Given the description of an element on the screen output the (x, y) to click on. 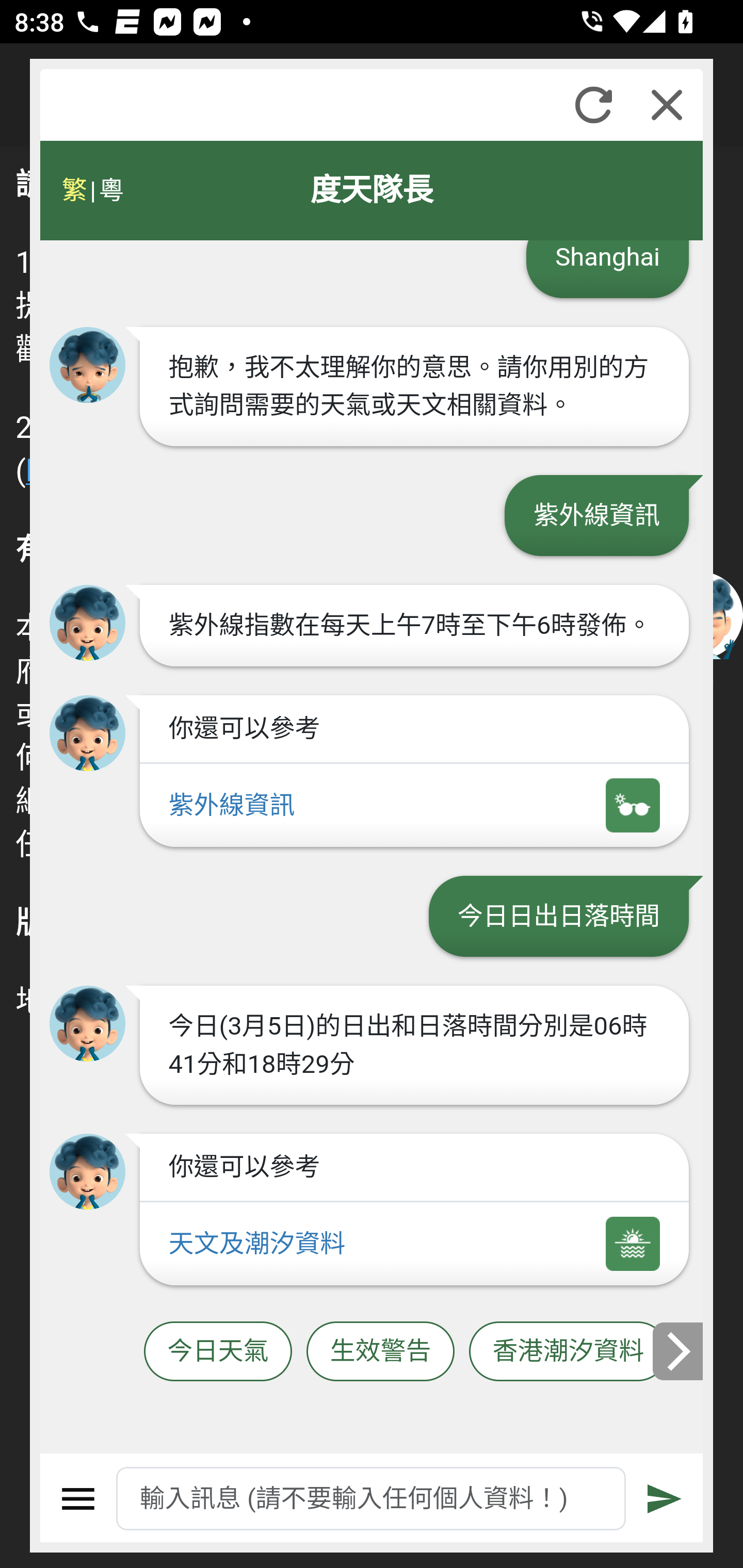
重新整理 (593, 104)
關閉 (666, 104)
繁 (73, 190)
粵 (110, 190)
紫外線資訊 (413, 805)
天文及潮汐資料 (413, 1244)
今日天氣 (217, 1351)
生效警告 (380, 1351)
香港潮汐資料 (568, 1351)
下一張 (678, 1351)
選單 (78, 1498)
遞交 (665, 1498)
